Given the description of an element on the screen output the (x, y) to click on. 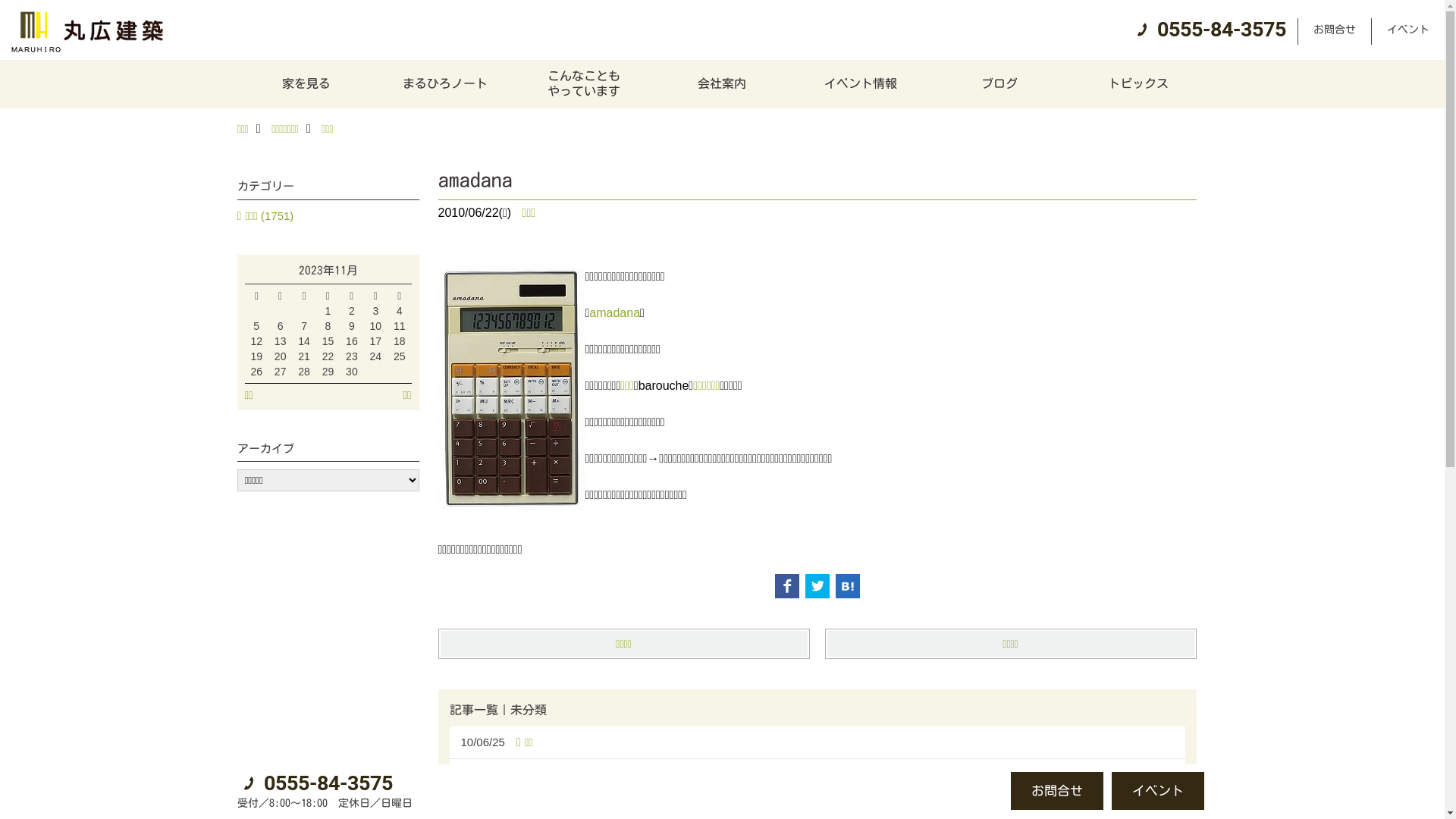
amadana Element type: text (614, 312)
